Given the description of an element on the screen output the (x, y) to click on. 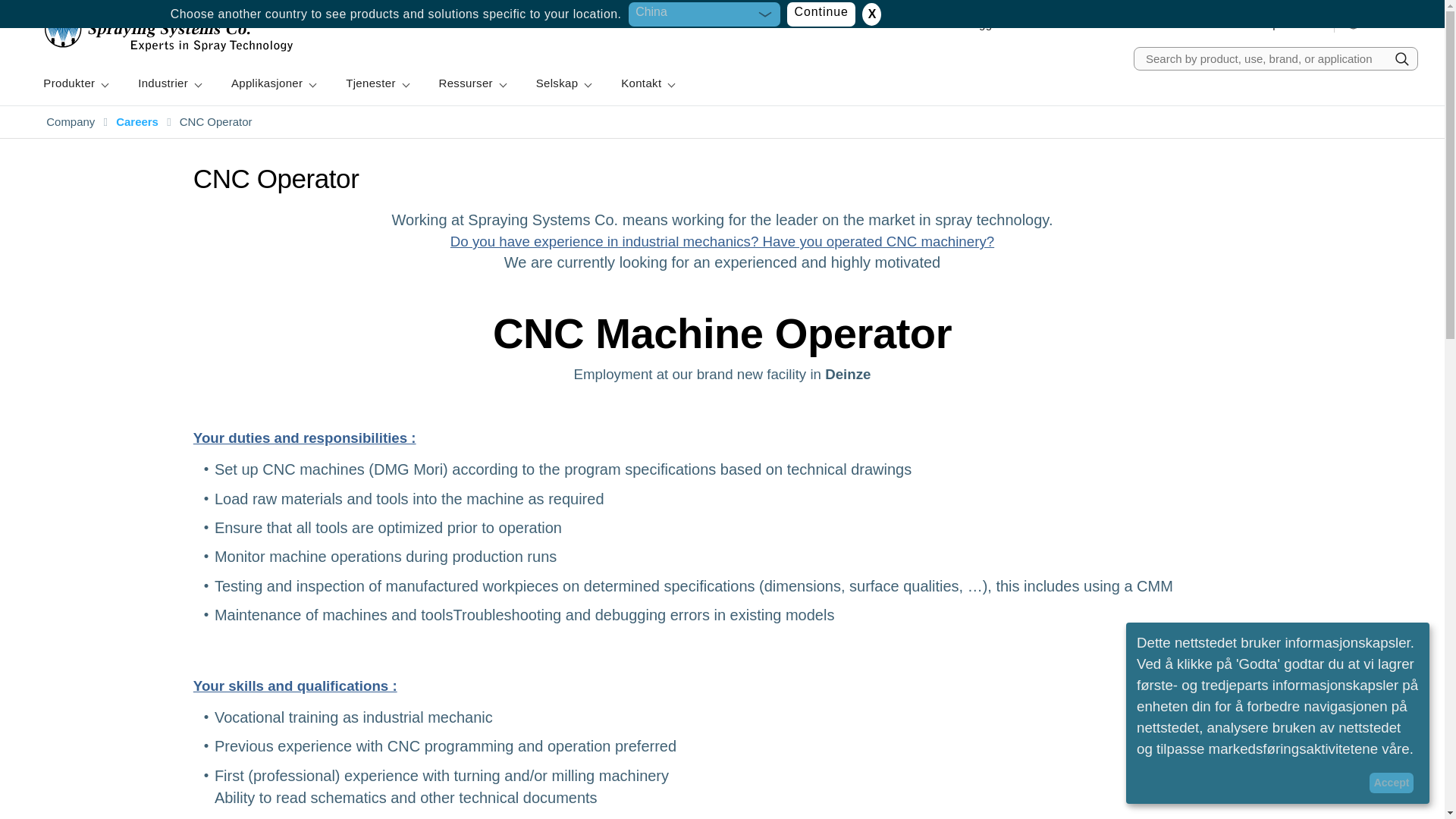
Produkter (74, 83)
Applikasjoner (272, 83)
Continue (821, 14)
Industrier (168, 83)
